Given the description of an element on the screen output the (x, y) to click on. 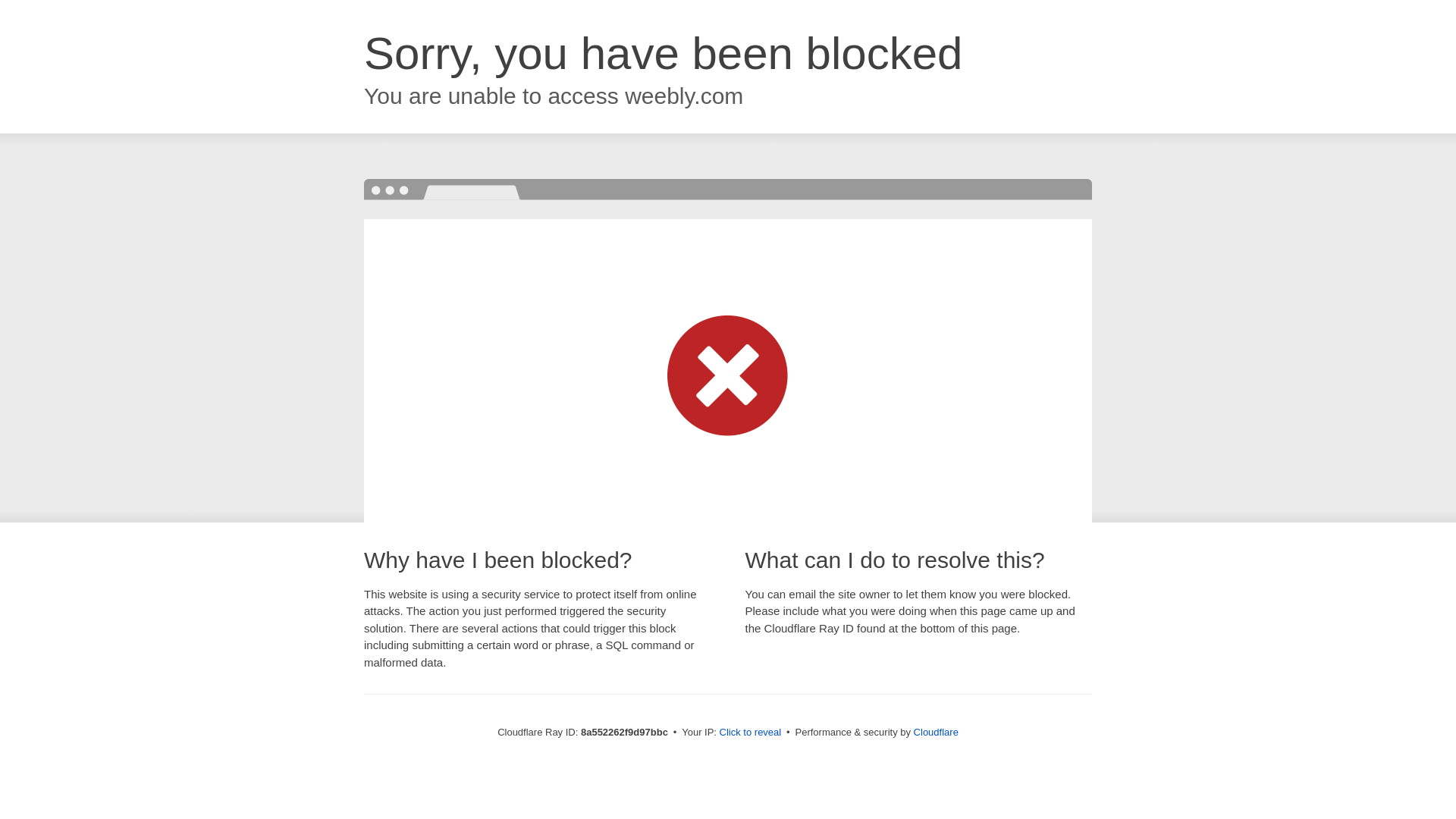
Cloudflare (936, 731)
Click to reveal (750, 732)
